Given the description of an element on the screen output the (x, y) to click on. 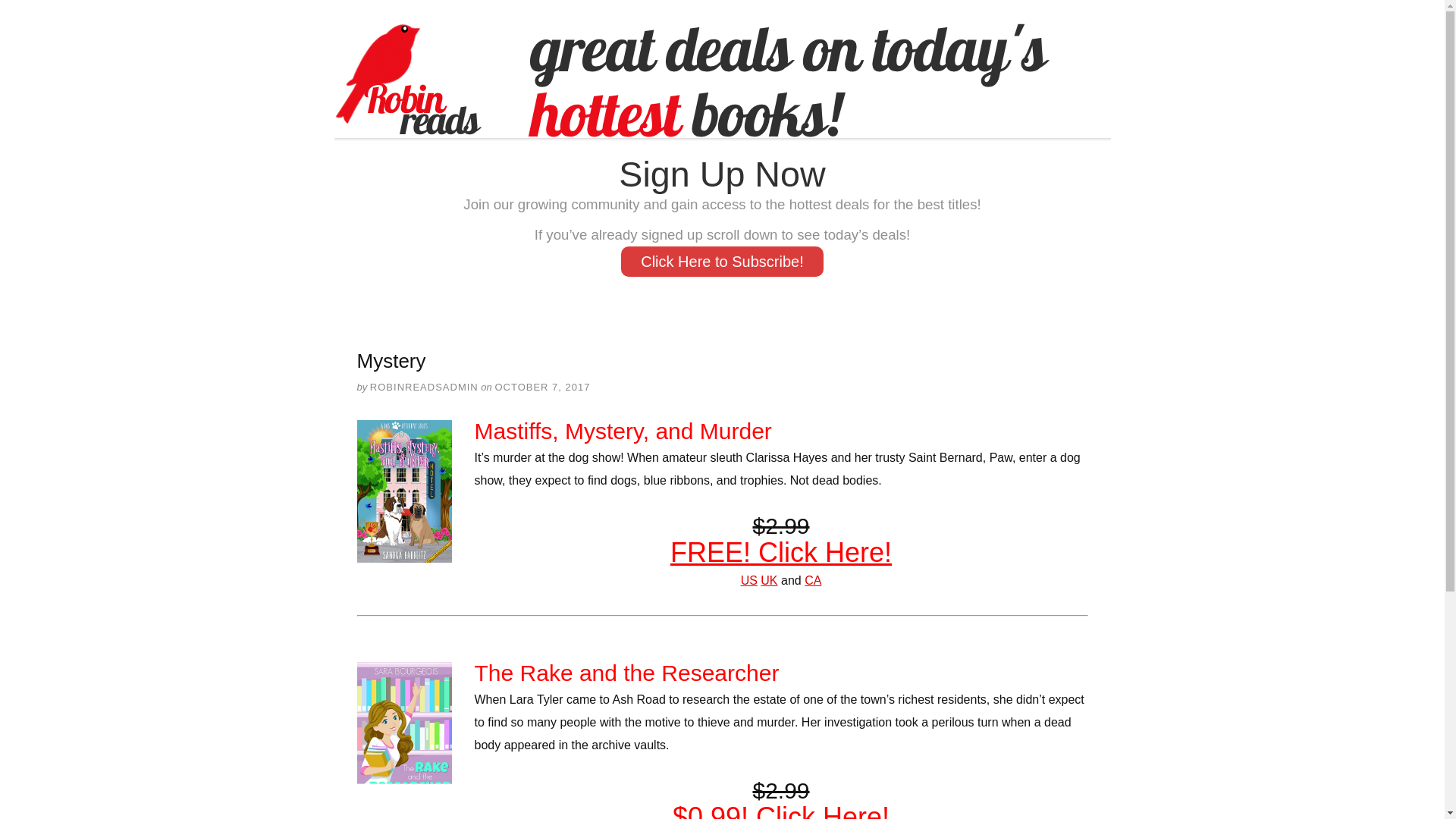
FREE! Click Here! (780, 552)
Click Here to Subscribe! (722, 261)
CA (813, 580)
US (749, 580)
2017-10-07 (542, 387)
UK (768, 580)
